Given the description of an element on the screen output the (x, y) to click on. 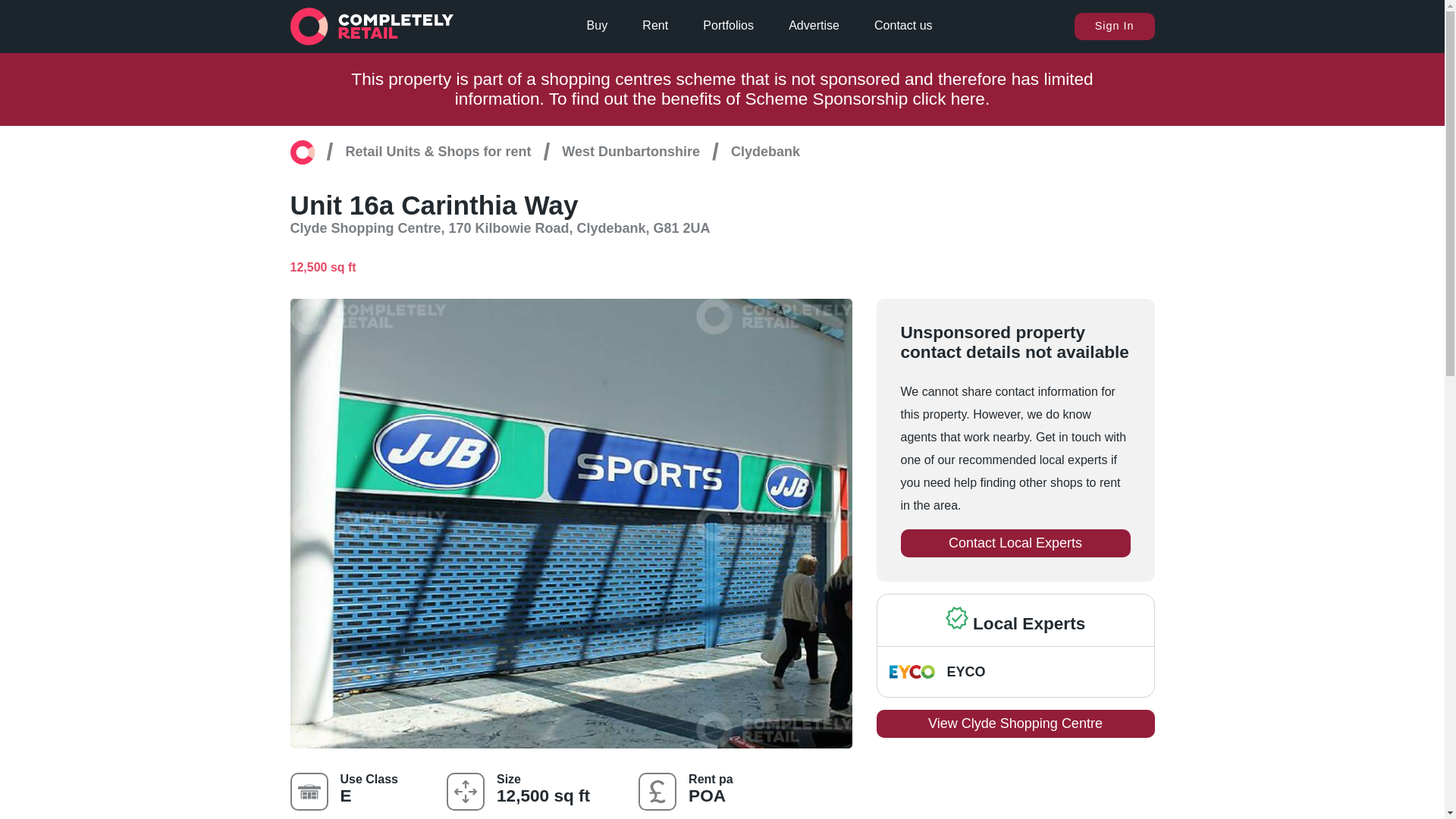
Contact us (903, 26)
Clydebank (764, 152)
View Clyde Shopping Centre (1015, 723)
West Dunbartonshire (631, 152)
Sign In (1114, 26)
Rent (655, 26)
Buy (597, 26)
Portfolios (728, 26)
